Given the description of an element on the screen output the (x, y) to click on. 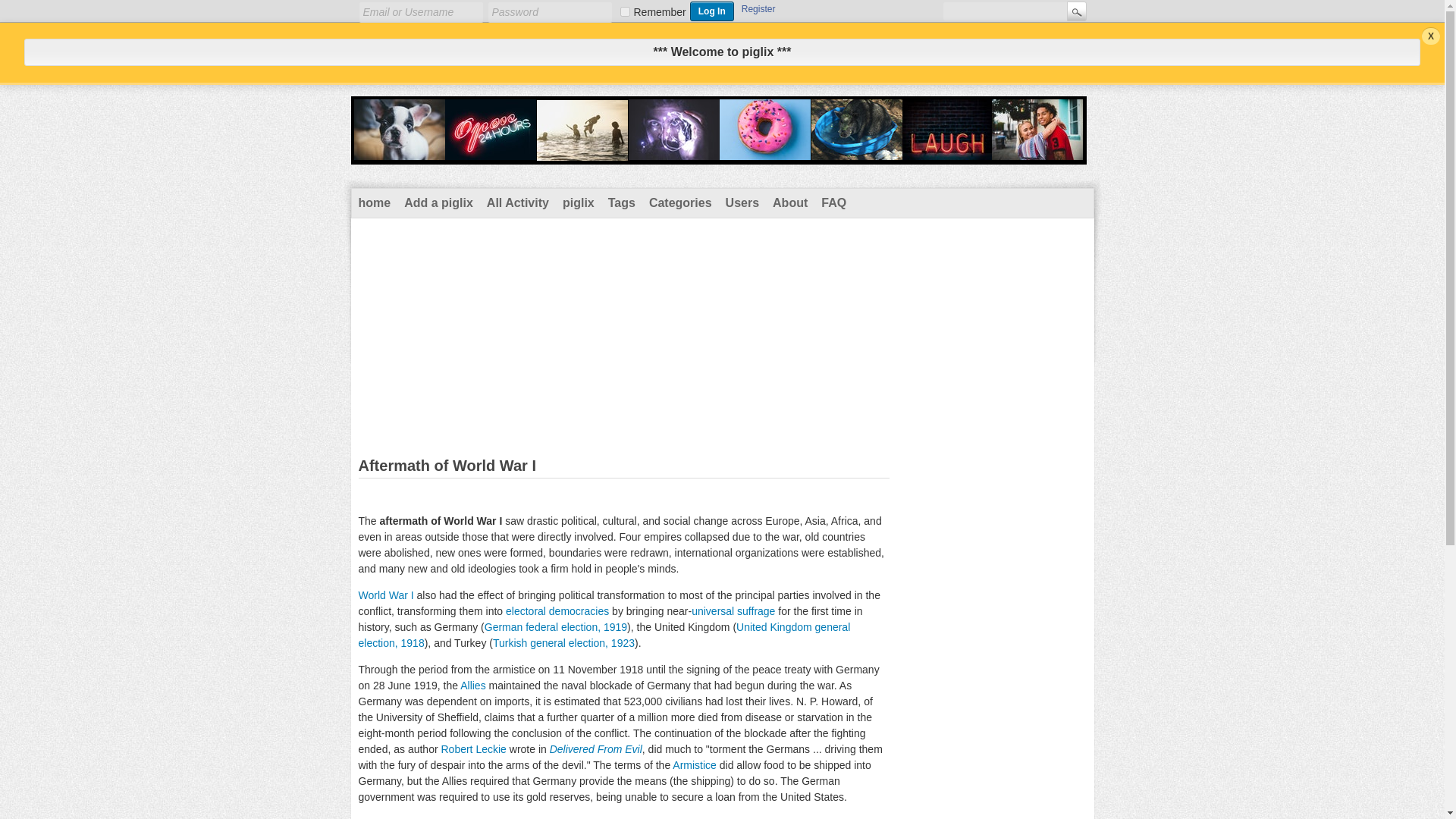
Tags (621, 203)
Search (1075, 11)
Search (1075, 11)
German federal election, 1919 (555, 626)
Register (758, 8)
Log In (711, 11)
Allies (472, 685)
home (374, 203)
1 (625, 11)
All Activity (518, 203)
